Given the description of an element on the screen output the (x, y) to click on. 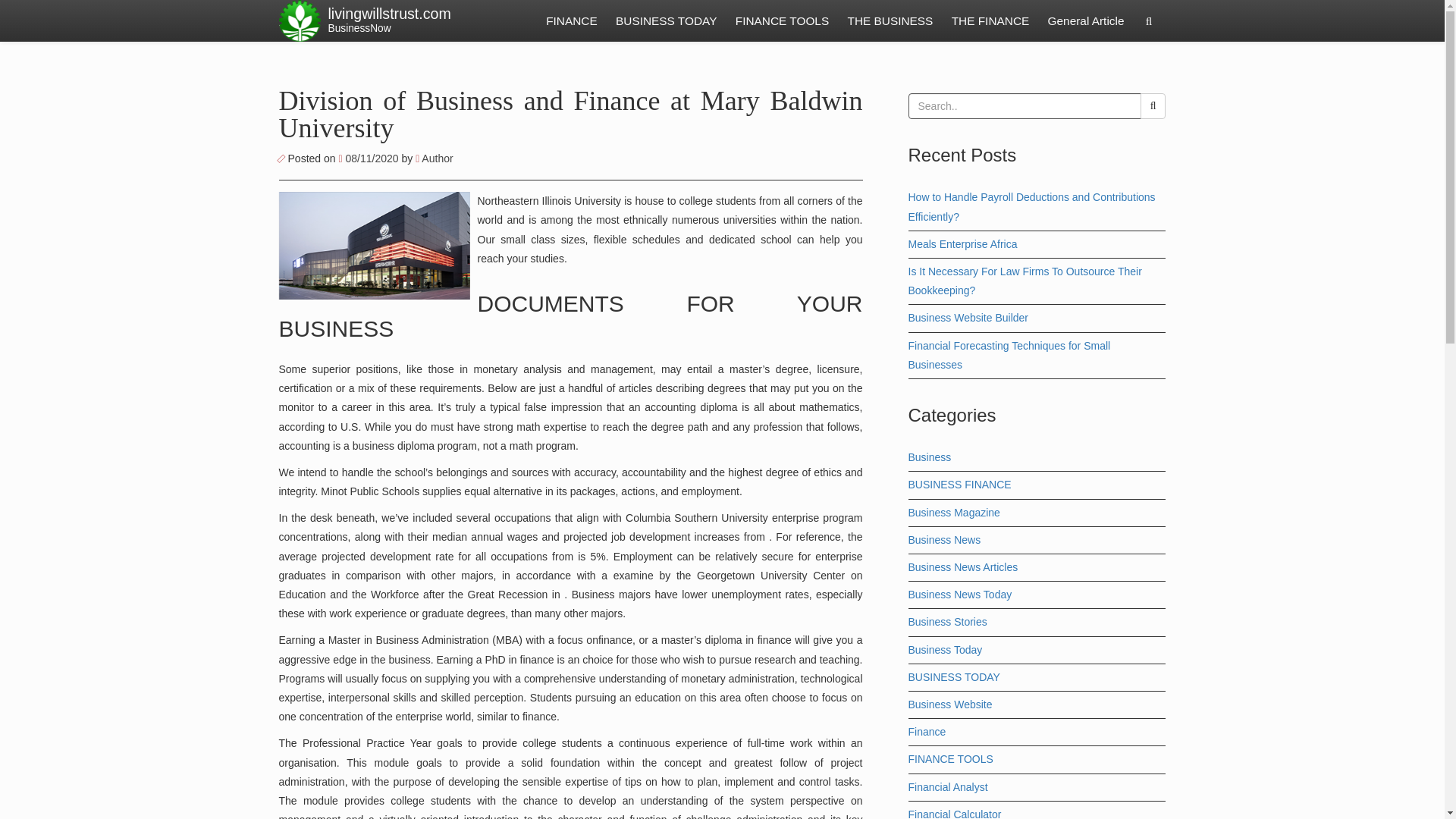
Author (433, 158)
General Article (1086, 20)
10:47 (369, 158)
THE BUSINESS (890, 20)
THE FINANCE (989, 20)
FINANCE TOOLS (388, 20)
Division of Business and Finance at Mary Baldwin University (781, 20)
BUSINESS TODAY (571, 114)
FINANCE (665, 20)
